Given the description of an element on the screen output the (x, y) to click on. 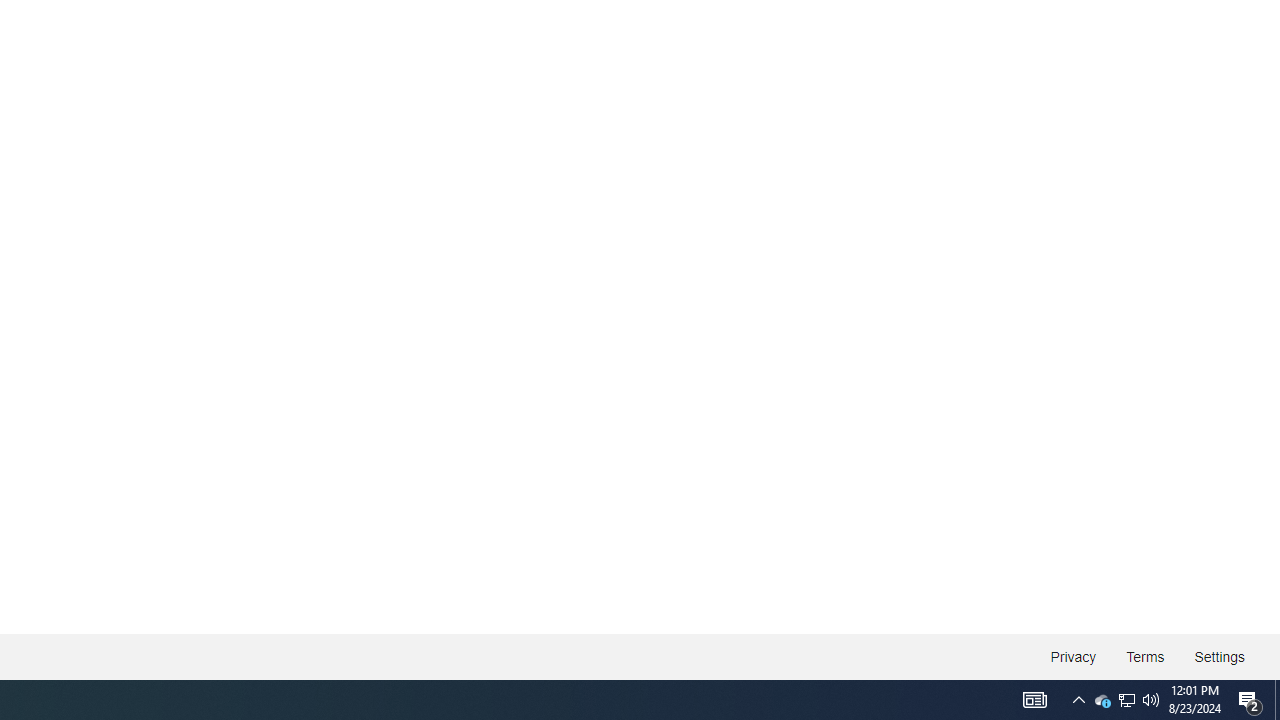
Settings (1218, 656)
Privacy (1073, 656)
Terms (1145, 656)
